Given the description of an element on the screen output the (x, y) to click on. 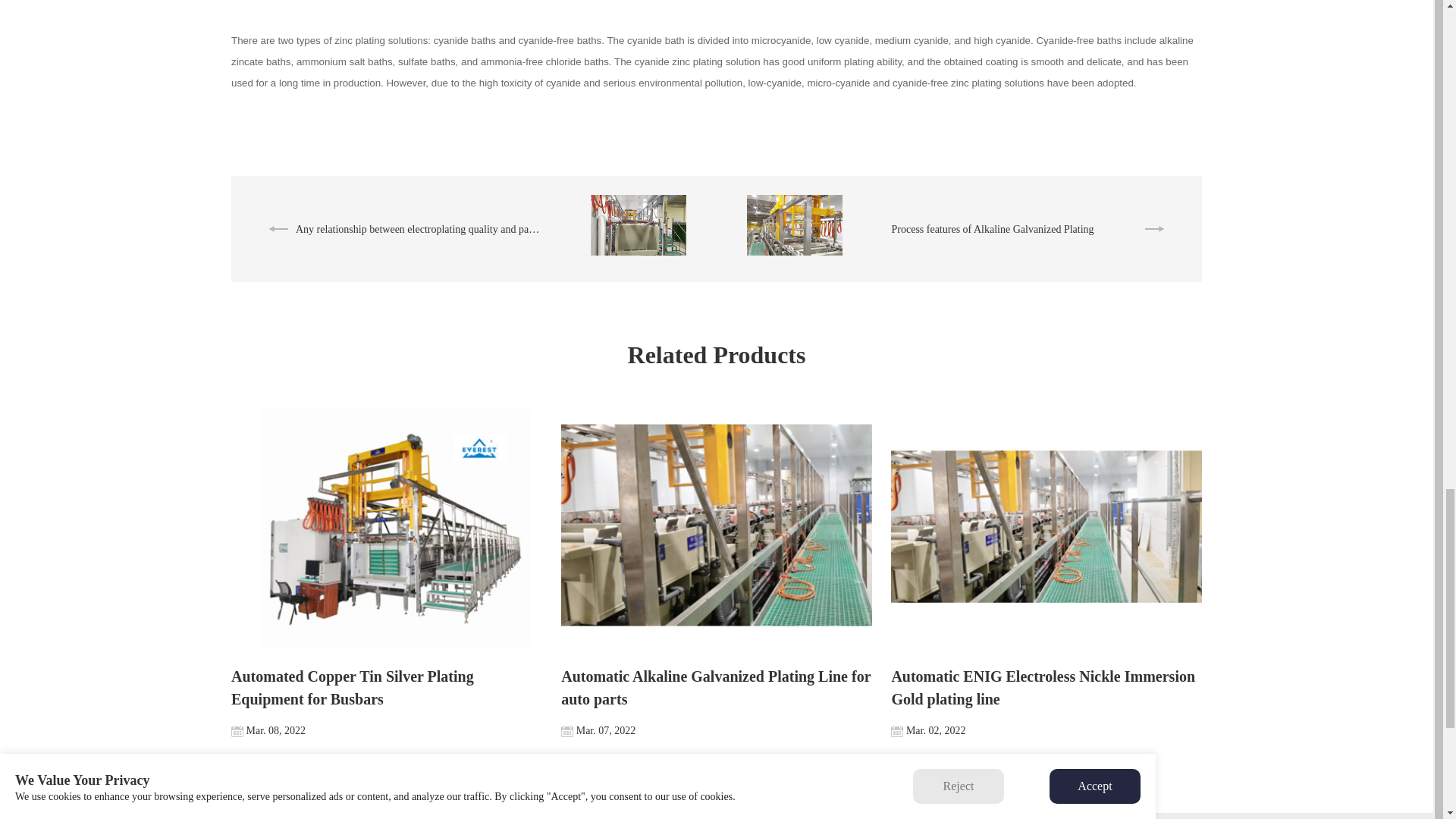
Automated Copper Tin Silver Plating Equipment for Busbars (386, 570)
Automated Copper Tin Silver Plating Equipment for Busbars (386, 525)
Automatic Alkaline Galvanized Plating Line for auto parts (716, 525)
Automatic Alkaline Galvanized Plating Line for auto parts (716, 570)
